Given the description of an element on the screen output the (x, y) to click on. 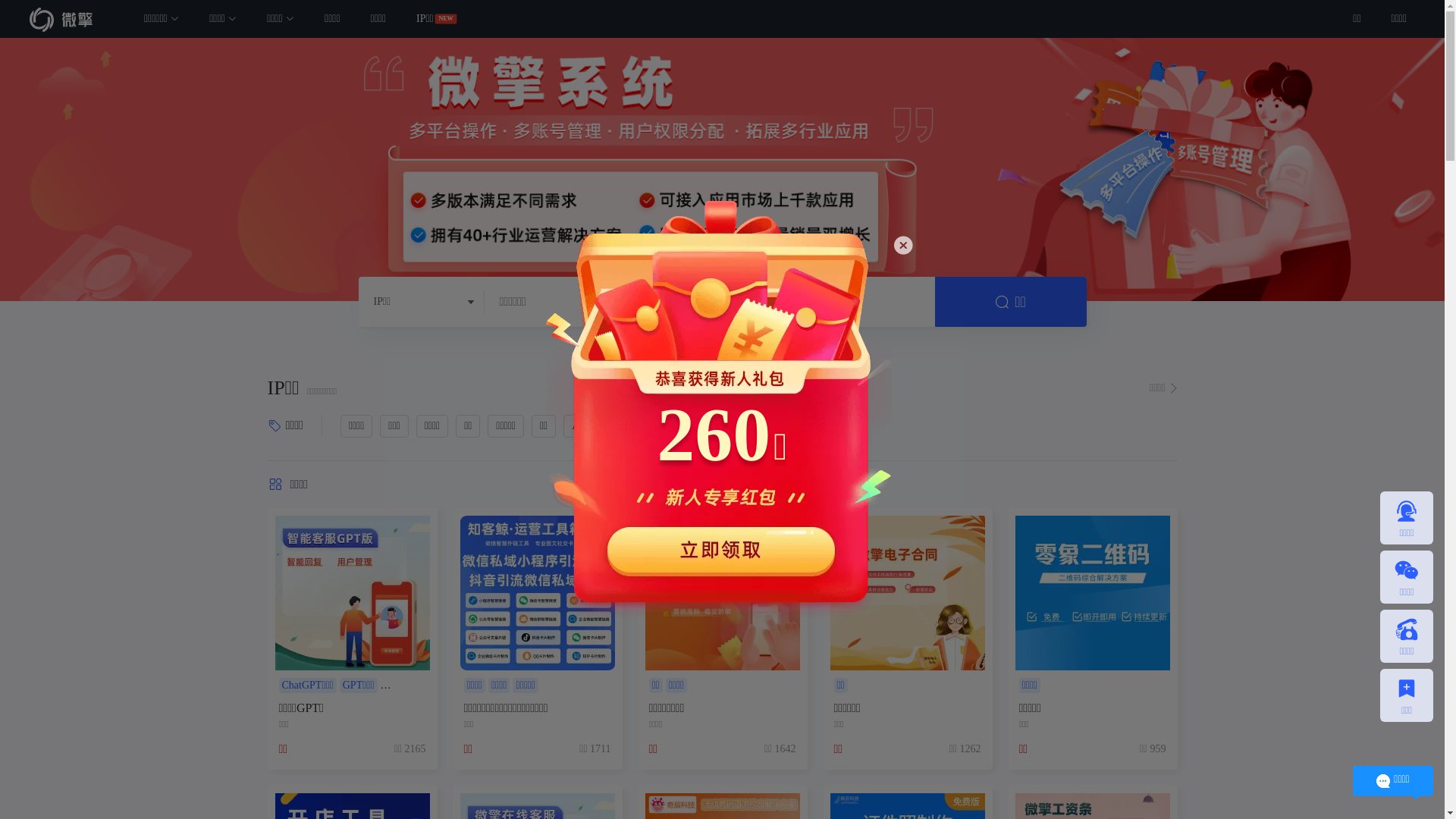
Chat GPT Element type: text (700, 425)
AI Element type: text (577, 425)
